Given the description of an element on the screen output the (x, y) to click on. 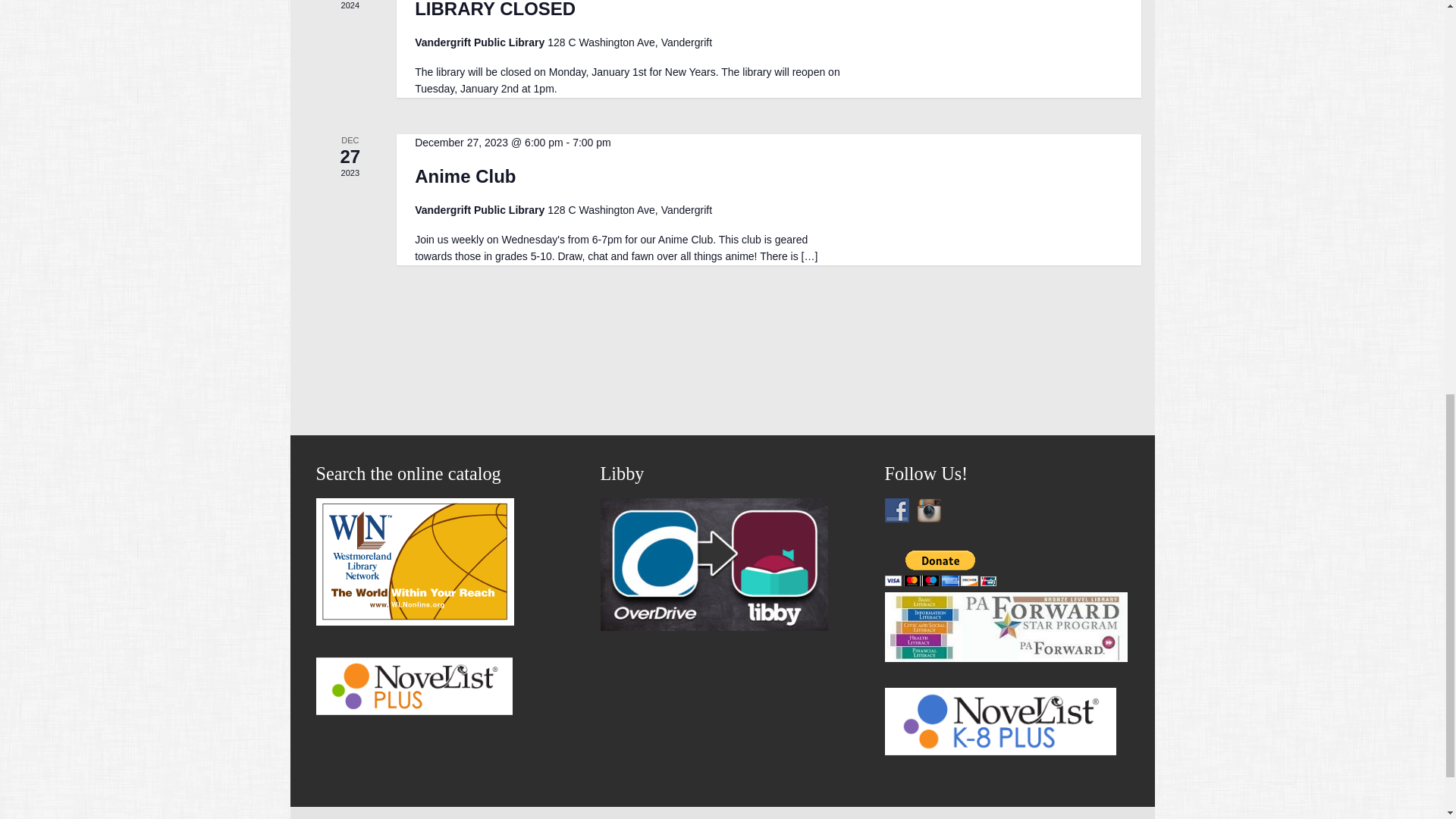
Anime Club (464, 176)
Anime Club (464, 176)
Search the online catalog (414, 621)
LIBRARY CLOSED (494, 9)
Follow Us on Instagram (927, 509)
Libby (713, 626)
LIBRARY CLOSED (494, 9)
Follow Us on Facebook (895, 509)
